Given the description of an element on the screen output the (x, y) to click on. 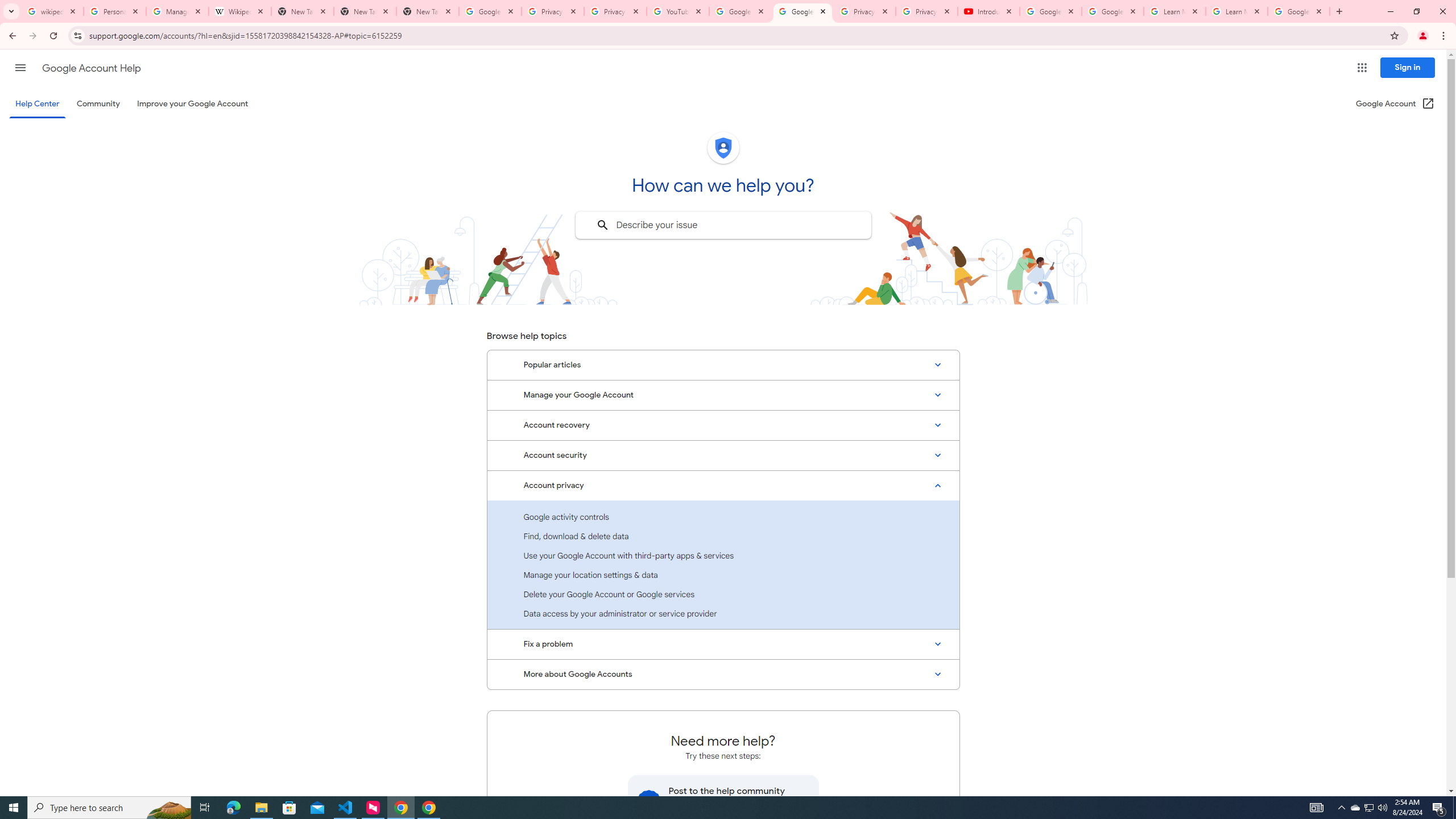
Data access by your administrator or service provider (722, 613)
Find, download & delete data (722, 536)
Account privacy, Expanded list with 6 items (722, 485)
Google Account Help (740, 11)
Community (97, 103)
More about Google Accounts (722, 674)
Manage your Google Account (722, 395)
Improve your Google Account (192, 103)
